Given the description of an element on the screen output the (x, y) to click on. 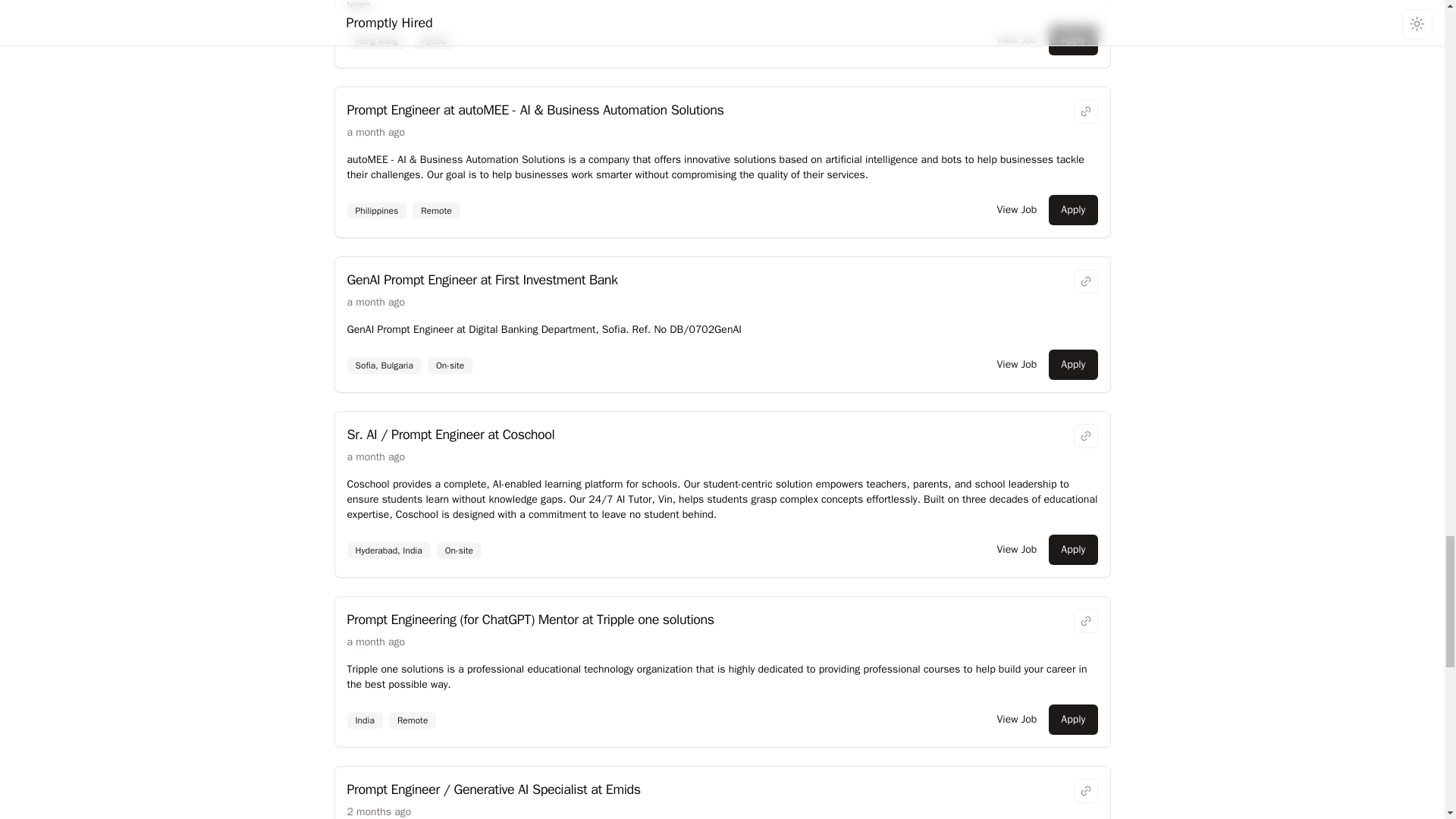
Posted on June 17, 2024 (376, 456)
Posted on June 18, 2024 (376, 132)
Posted on June 18, 2024 (376, 301)
